Given the description of an element on the screen output the (x, y) to click on. 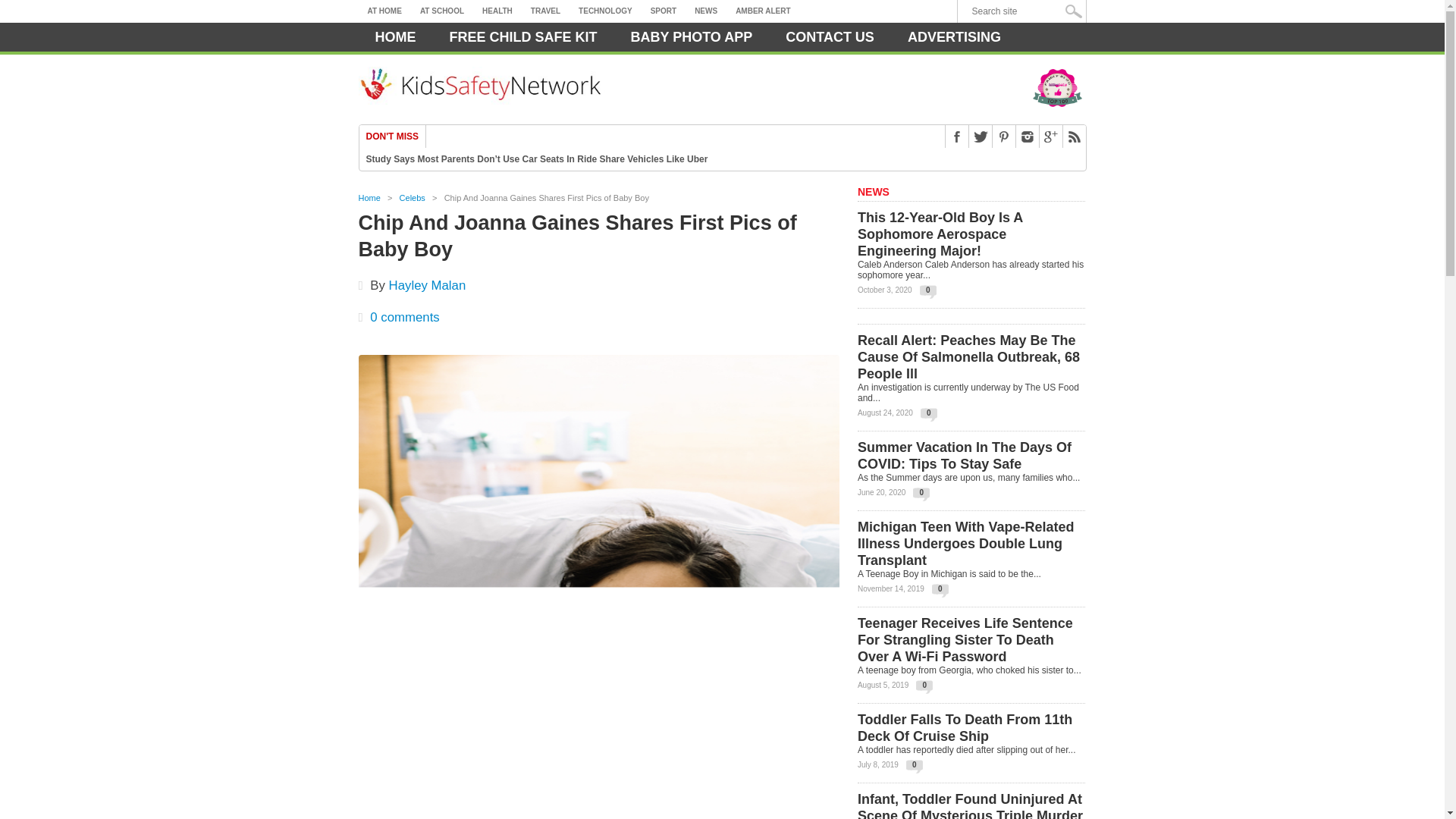
HEALTH (497, 11)
AT SCHOOL (441, 11)
TECHNOLOGY (605, 11)
SPORT (663, 11)
AMBER ALERT (762, 11)
Search site (1024, 11)
Posts by Hayley Malan (426, 285)
AT HOME (384, 11)
TRAVEL (545, 11)
Home (395, 36)
